Given the description of an element on the screen output the (x, y) to click on. 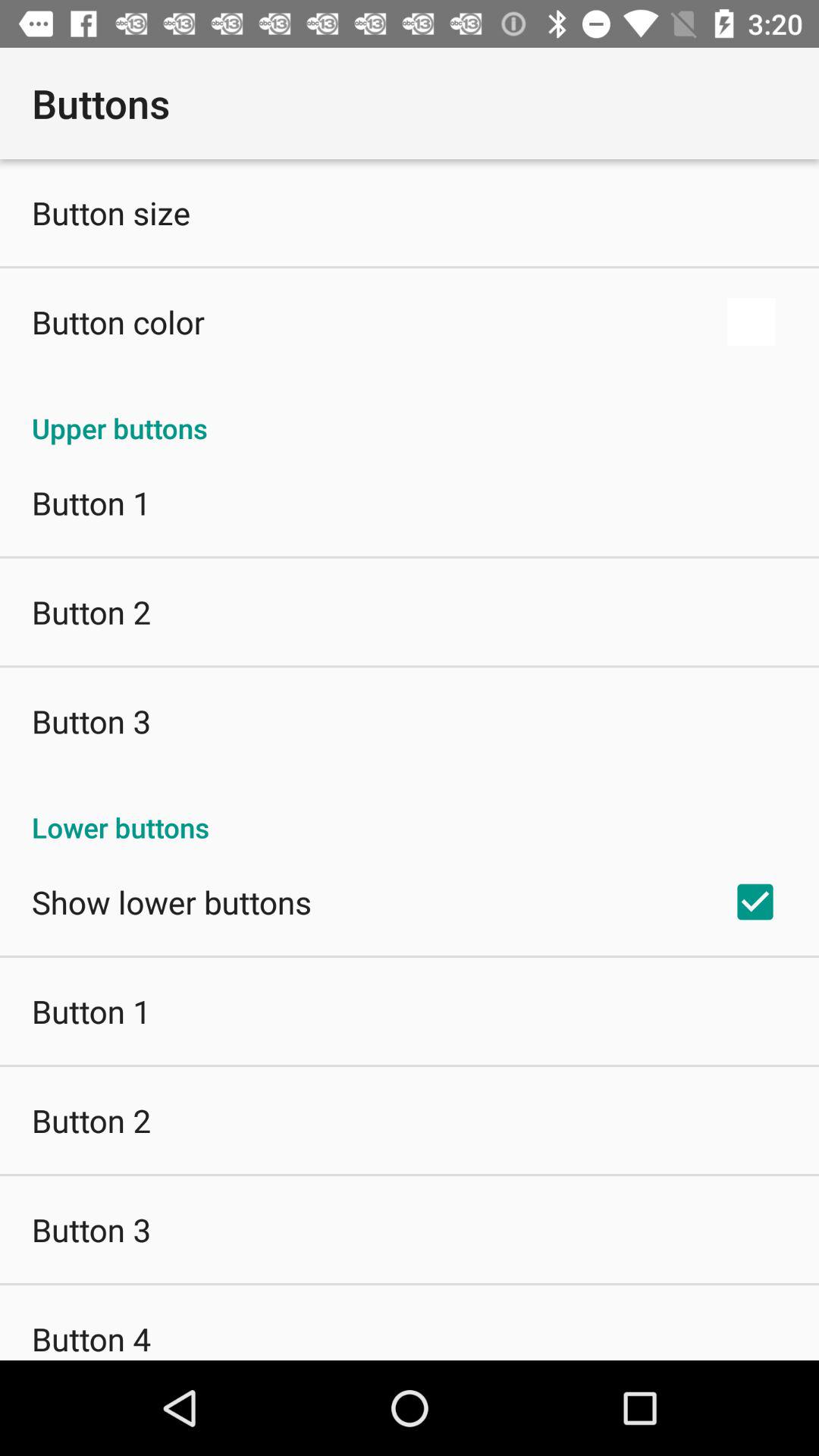
swipe to button 4 (90, 1338)
